Given the description of an element on the screen output the (x, y) to click on. 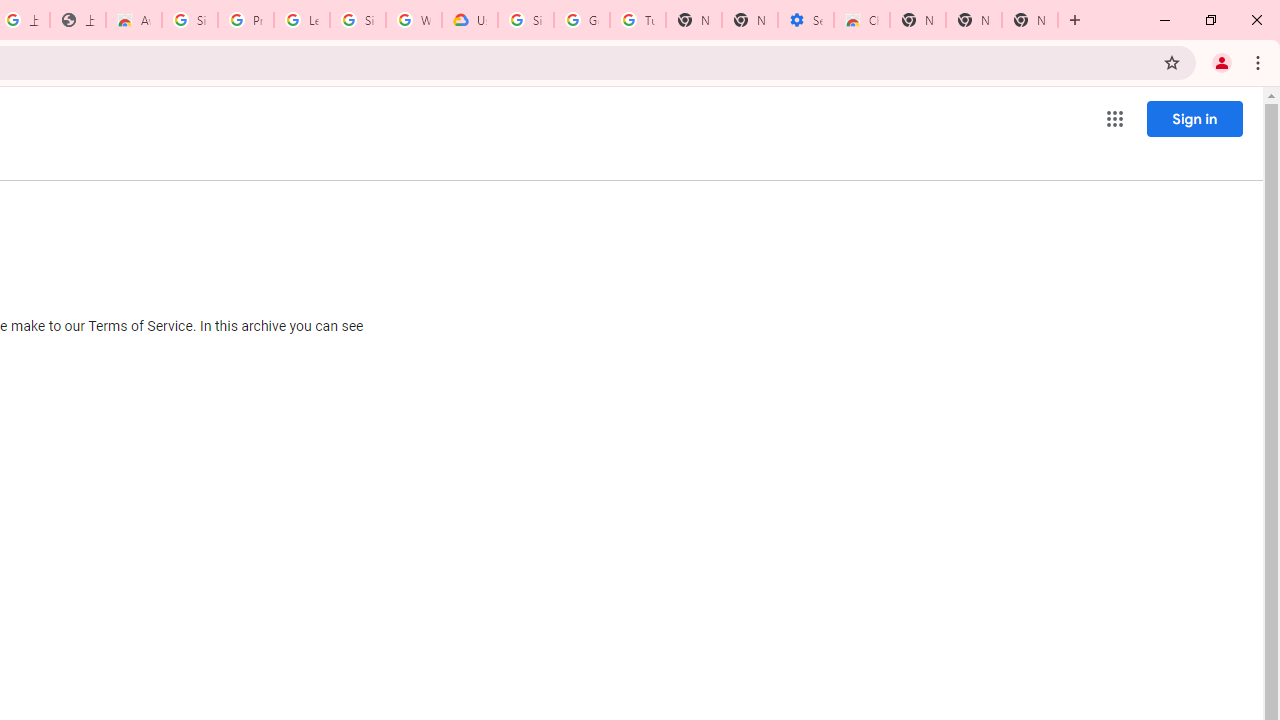
New Tab (917, 20)
Sign in - Google Accounts (358, 20)
New Tab (1030, 20)
Settings - Accessibility (806, 20)
Turn cookies on or off - Computer - Google Account Help (637, 20)
